Given the description of an element on the screen output the (x, y) to click on. 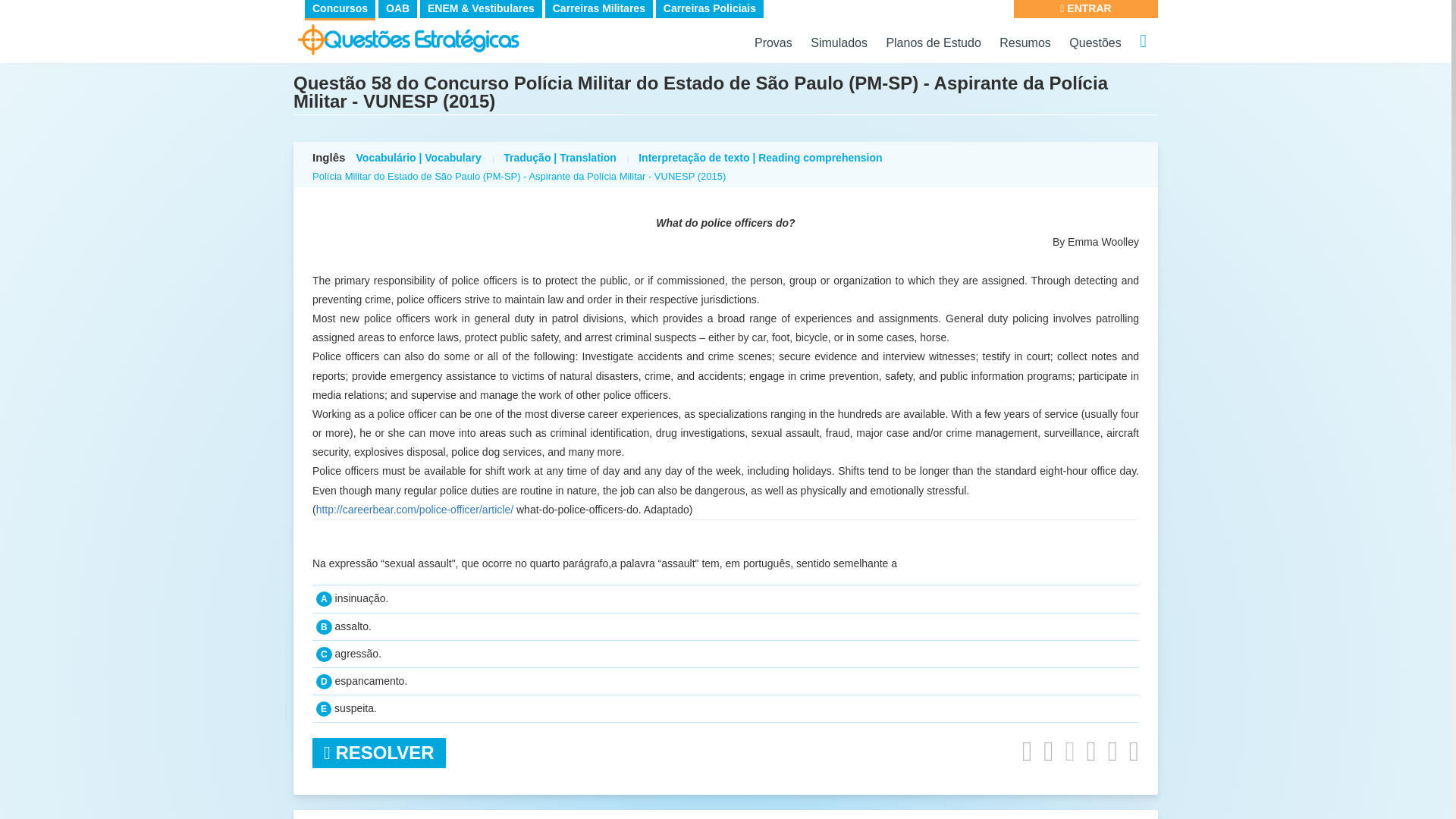
Carreiras Militares (598, 8)
OAB (397, 8)
Carreiras Policiais (709, 8)
Simulados (838, 42)
Solicitar Gabarito Comentado (1027, 750)
Concursos (339, 8)
Reportar Erro (1113, 750)
Curtir (1069, 750)
Provas (773, 42)
Colocar em um Caderno (1047, 750)
Resumos (1024, 42)
ENTRAR (1085, 9)
Planos de Estudo (932, 42)
